Given the description of an element on the screen output the (x, y) to click on. 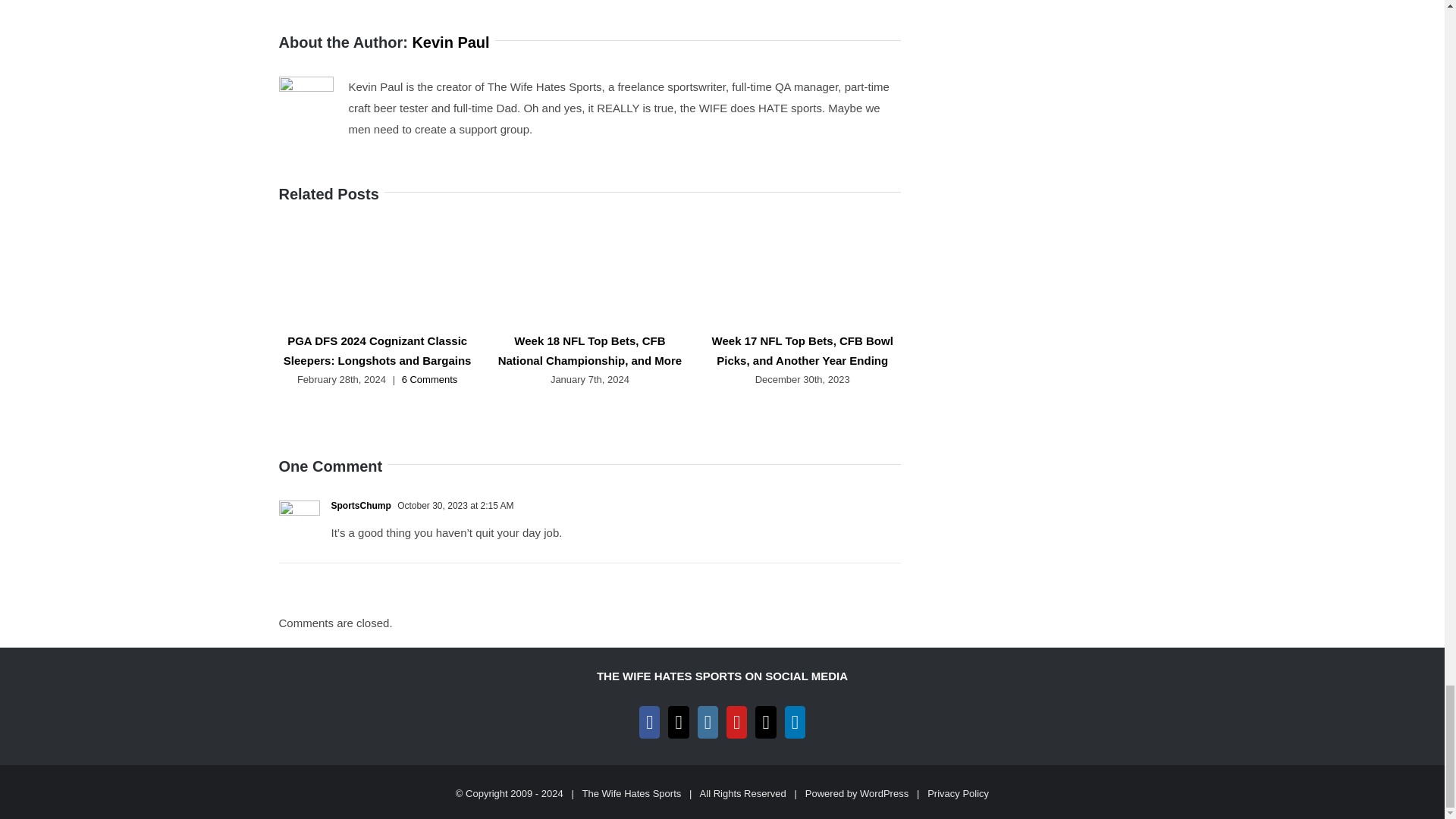
Week 18 NFL Top Bets, CFB National Championship, and More (589, 350)
Posts by Kevin Paul (450, 42)
Kevin Paul (450, 42)
